Given the description of an element on the screen output the (x, y) to click on. 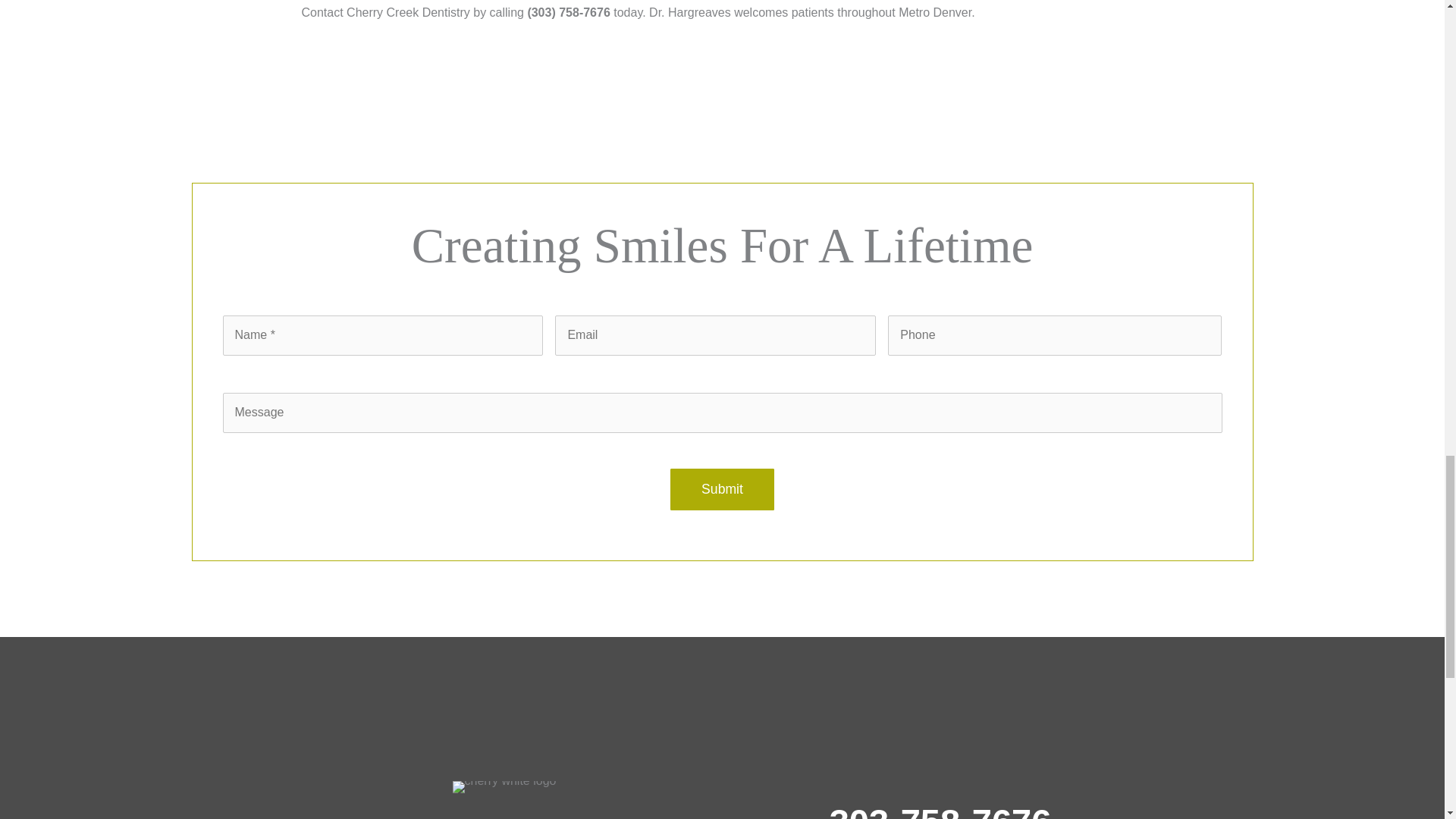
Submit (721, 489)
cherry white logo (504, 787)
